Given the description of an element on the screen output the (x, y) to click on. 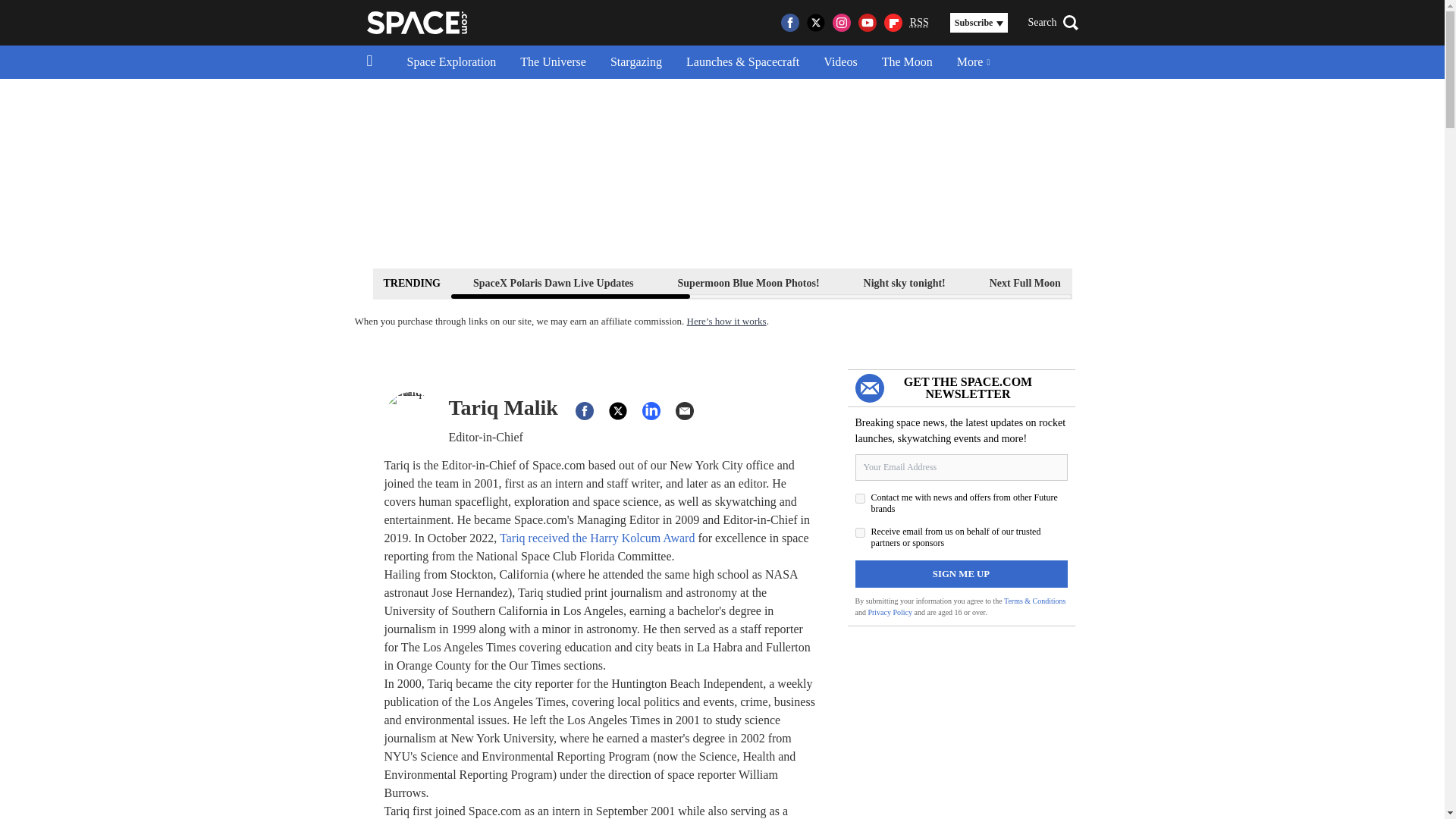
Best Binoculars (1253, 282)
Best Telescopes (1139, 282)
RSS (919, 22)
Next Full Moon (1024, 282)
Sign me up (961, 574)
on (860, 532)
Stargazing (636, 61)
Really Simple Syndication (919, 21)
Night sky tonight! (904, 282)
SpaceX Polaris Dawn Live Updates (553, 282)
